Given the description of an element on the screen output the (x, y) to click on. 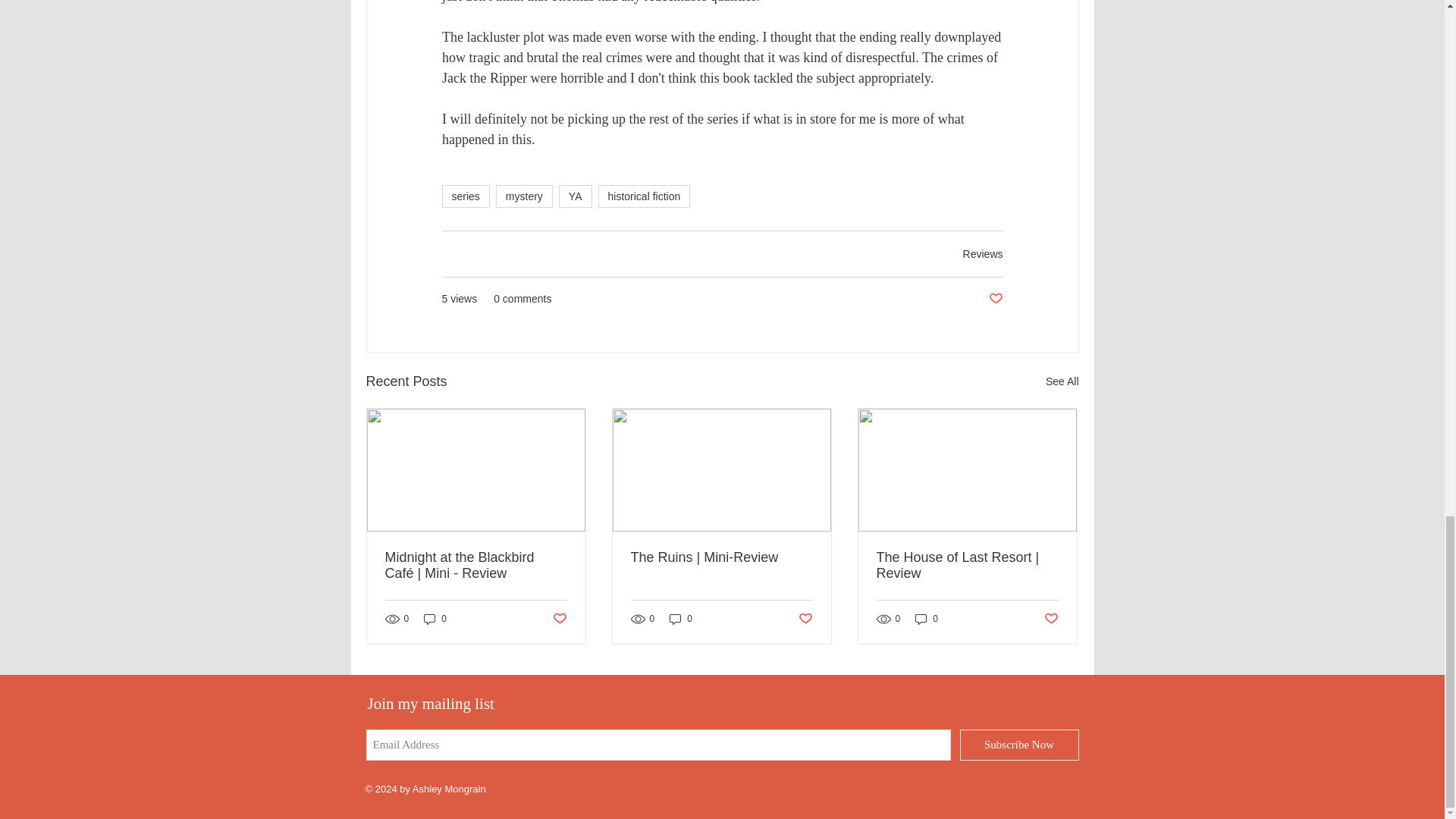
Reviews (982, 254)
series (465, 196)
Post not marked as liked (558, 618)
0 (681, 618)
YA (575, 196)
0 (435, 618)
Post not marked as liked (1050, 618)
0 (926, 618)
Post not marked as liked (995, 299)
Post not marked as liked (804, 618)
